Given the description of an element on the screen output the (x, y) to click on. 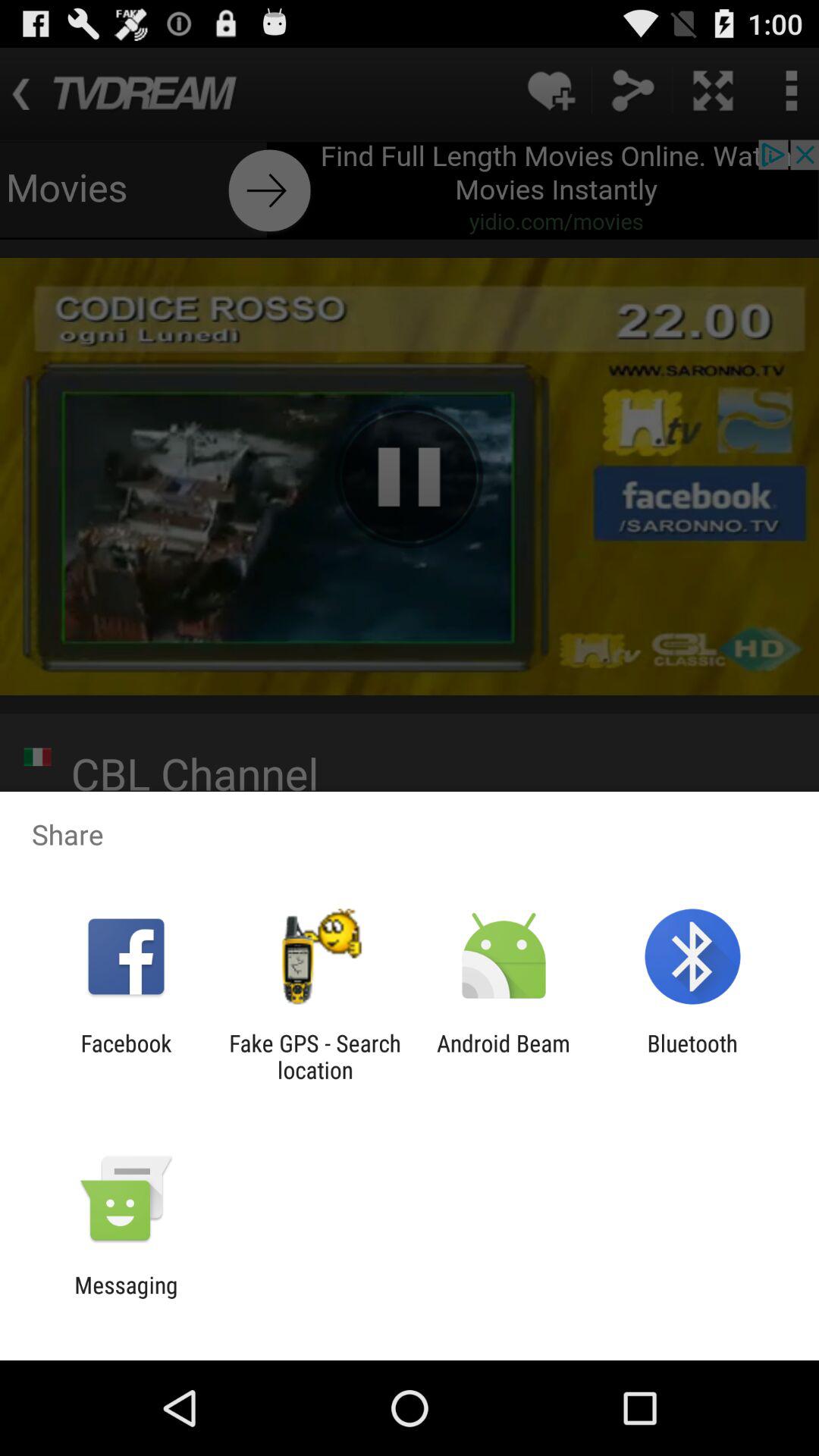
open icon next to the fake gps search app (125, 1056)
